Given the description of an element on the screen output the (x, y) to click on. 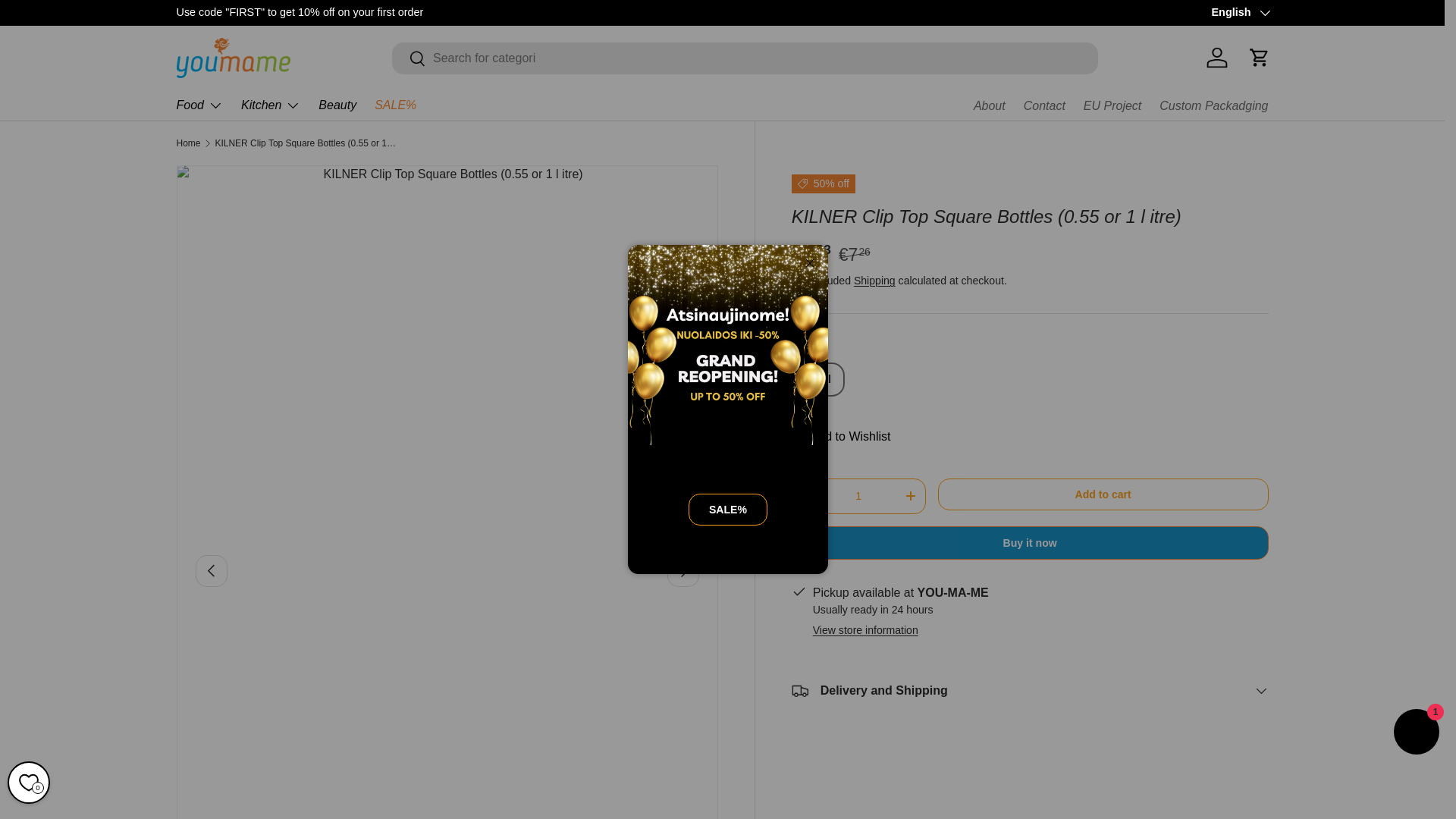
Shopify online store chat (1416, 733)
Cart (1258, 57)
English (1239, 12)
Skip to content (68, 21)
Log in (1216, 57)
Food (199, 105)
Search (408, 58)
1 (858, 495)
